Given the description of an element on the screen output the (x, y) to click on. 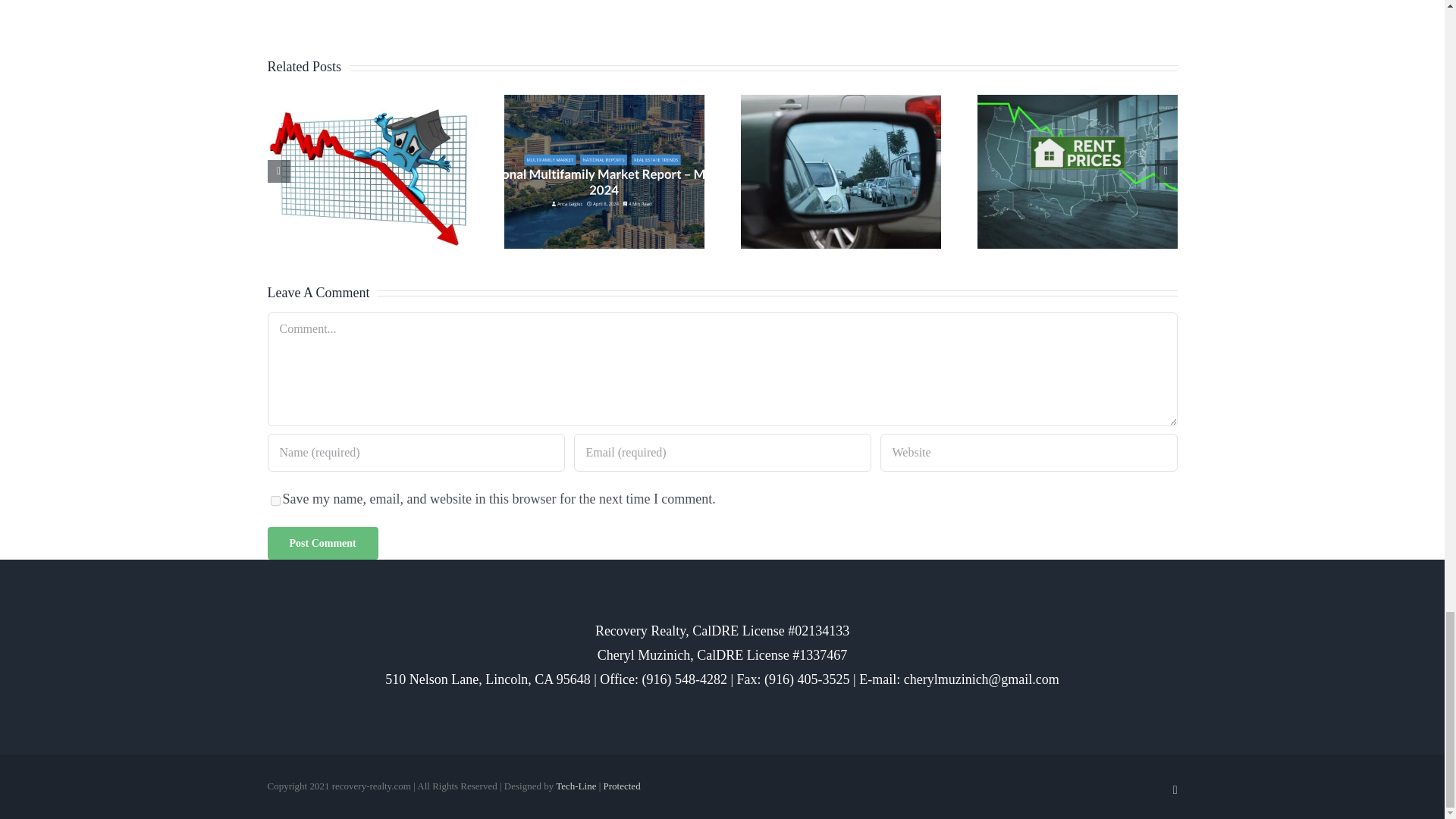
Post Comment (321, 543)
yes (274, 500)
